Given the description of an element on the screen output the (x, y) to click on. 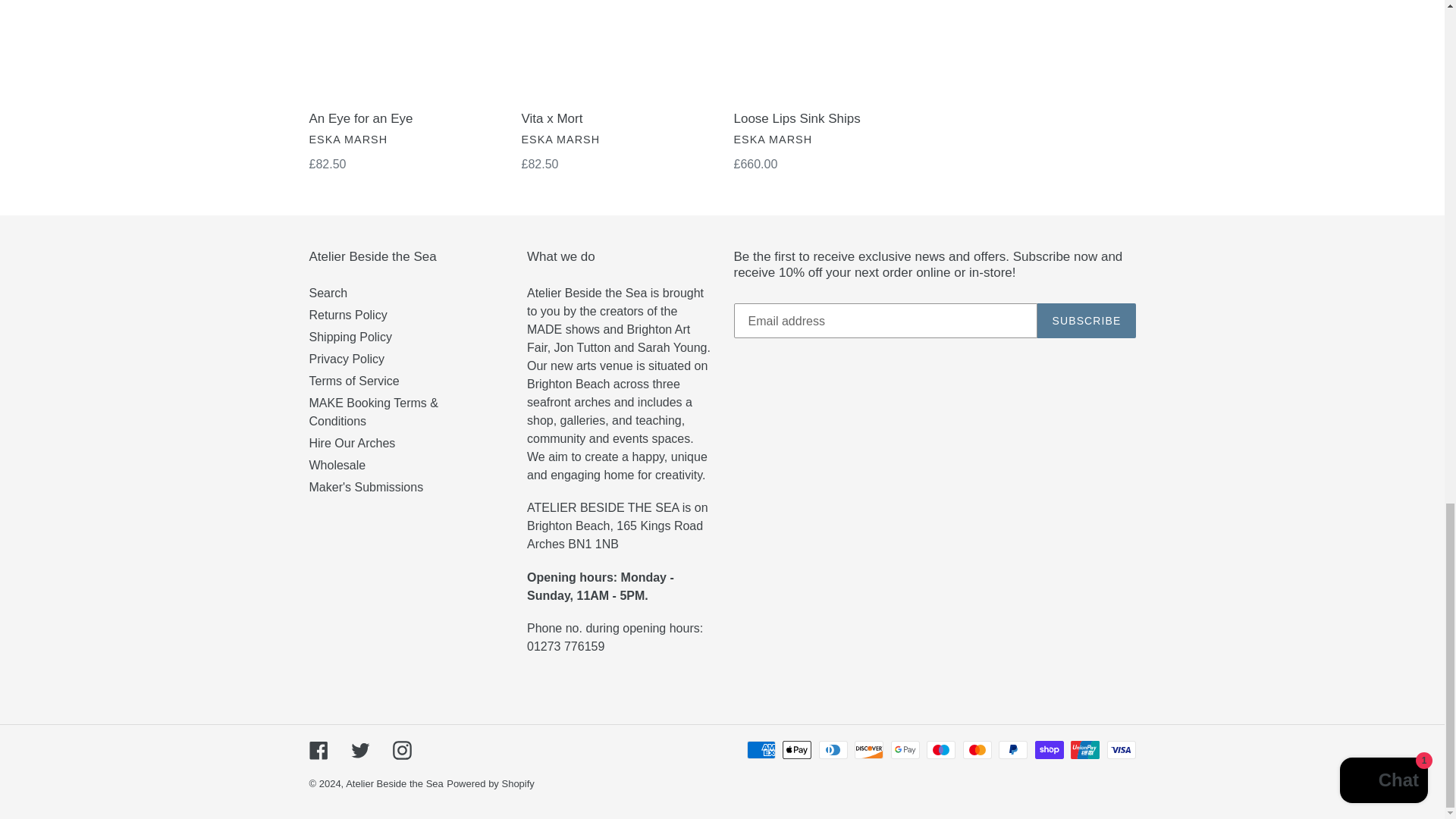
Eska Marsh (772, 139)
Eska Marsh (348, 139)
Eska Marsh (560, 139)
